Given the description of an element on the screen output the (x, y) to click on. 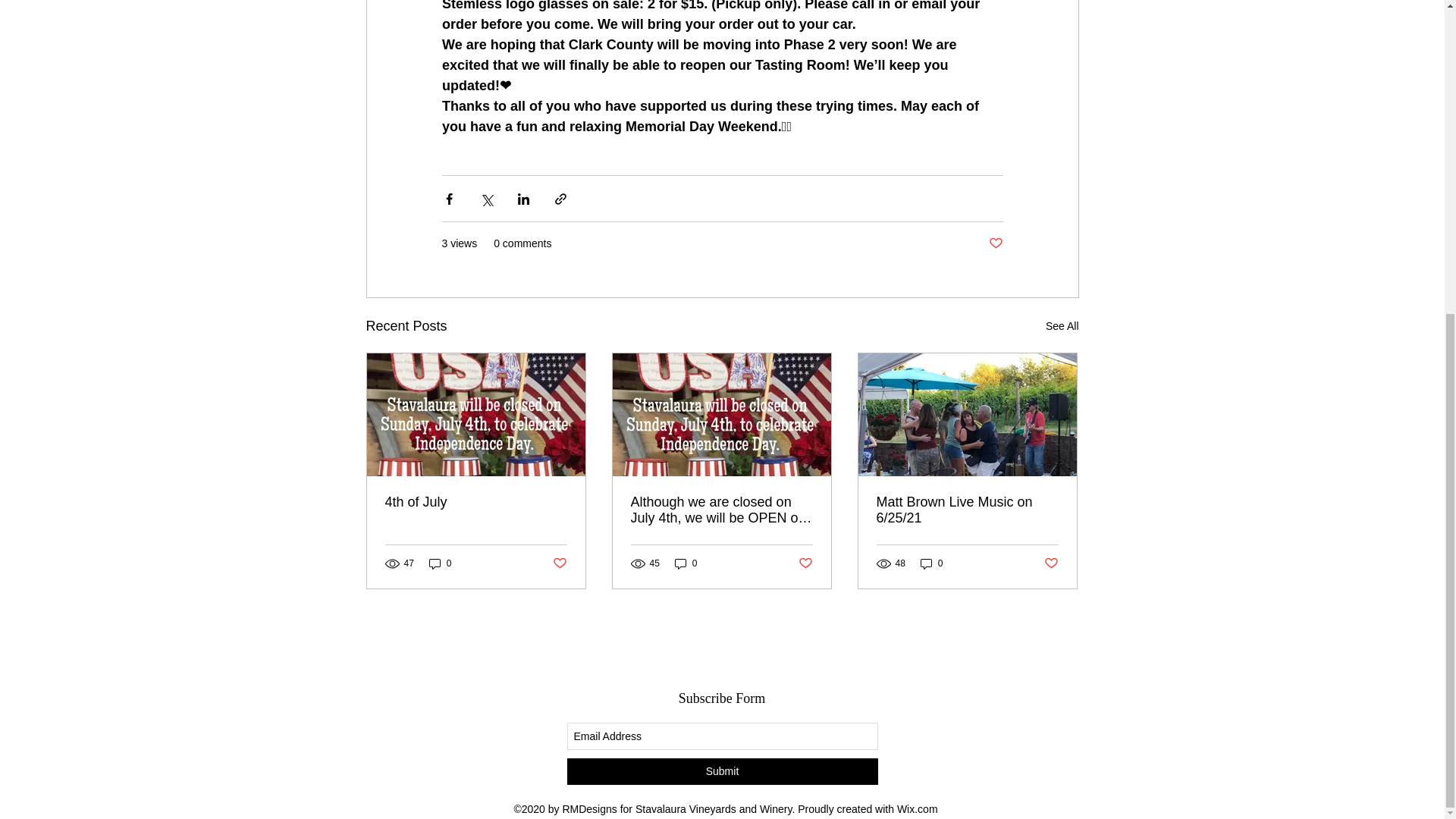
Post not marked as liked (558, 563)
Post not marked as liked (995, 243)
0 (931, 563)
Post not marked as liked (1050, 563)
See All (1061, 326)
4th of July (476, 502)
0 (440, 563)
Submit (722, 771)
Post not marked as liked (804, 563)
0 (685, 563)
